Given the description of an element on the screen output the (x, y) to click on. 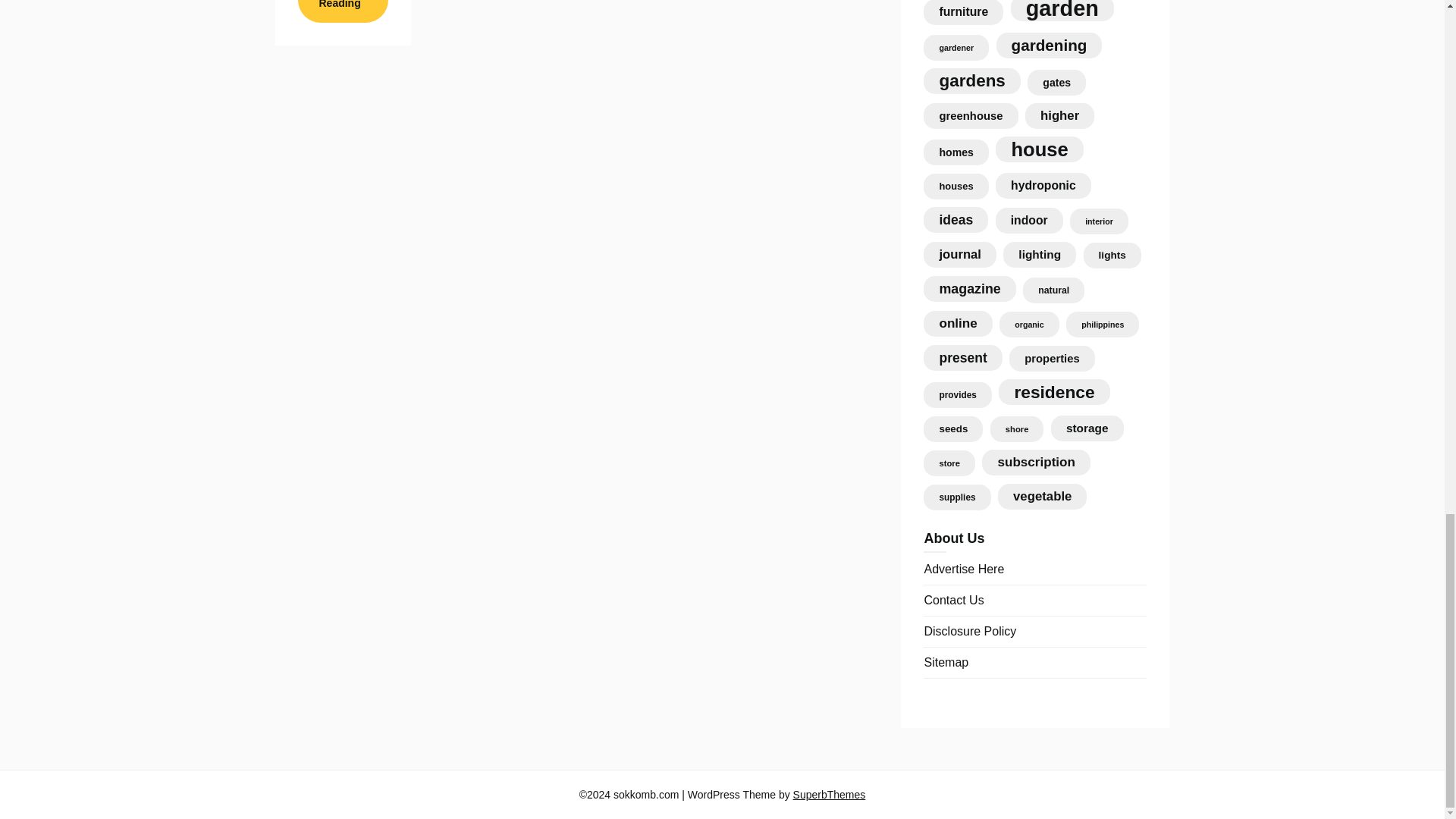
Continue Reading (342, 11)
